Given the description of an element on the screen output the (x, y) to click on. 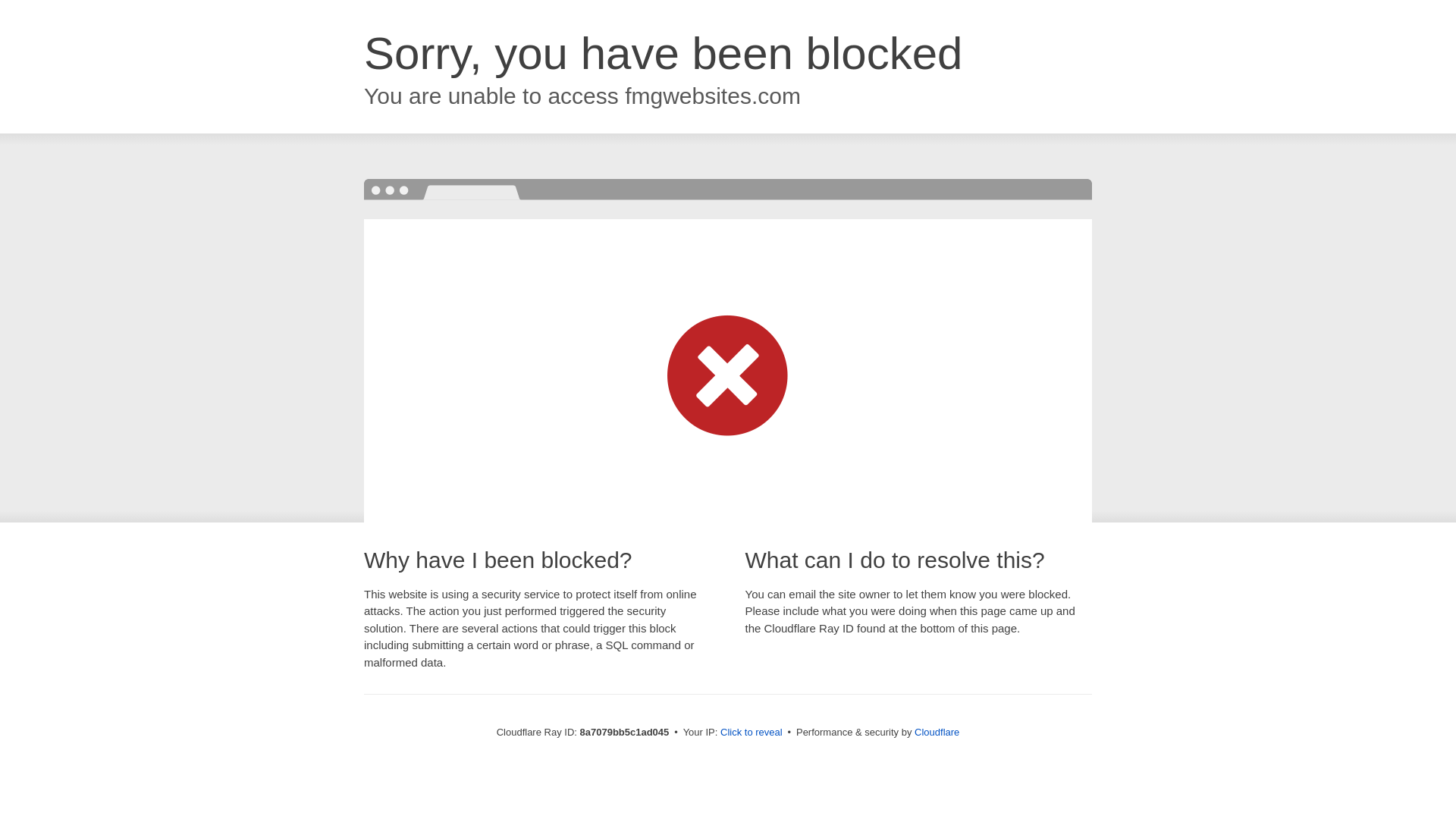
Click to reveal (751, 732)
Cloudflare (936, 731)
